Given the description of an element on the screen output the (x, y) to click on. 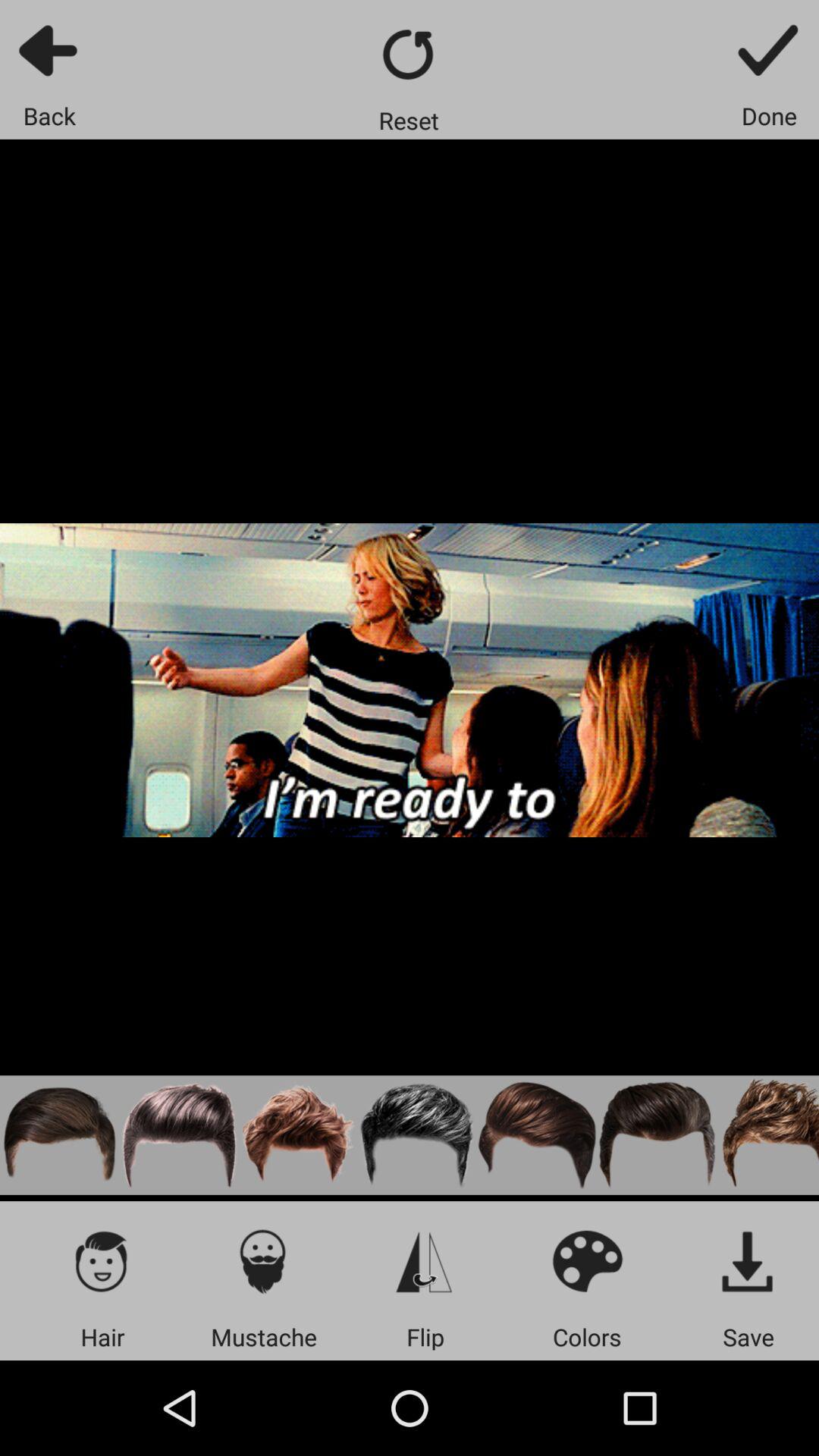
open mustache advertisement on menu (263, 1260)
